Given the description of an element on the screen output the (x, y) to click on. 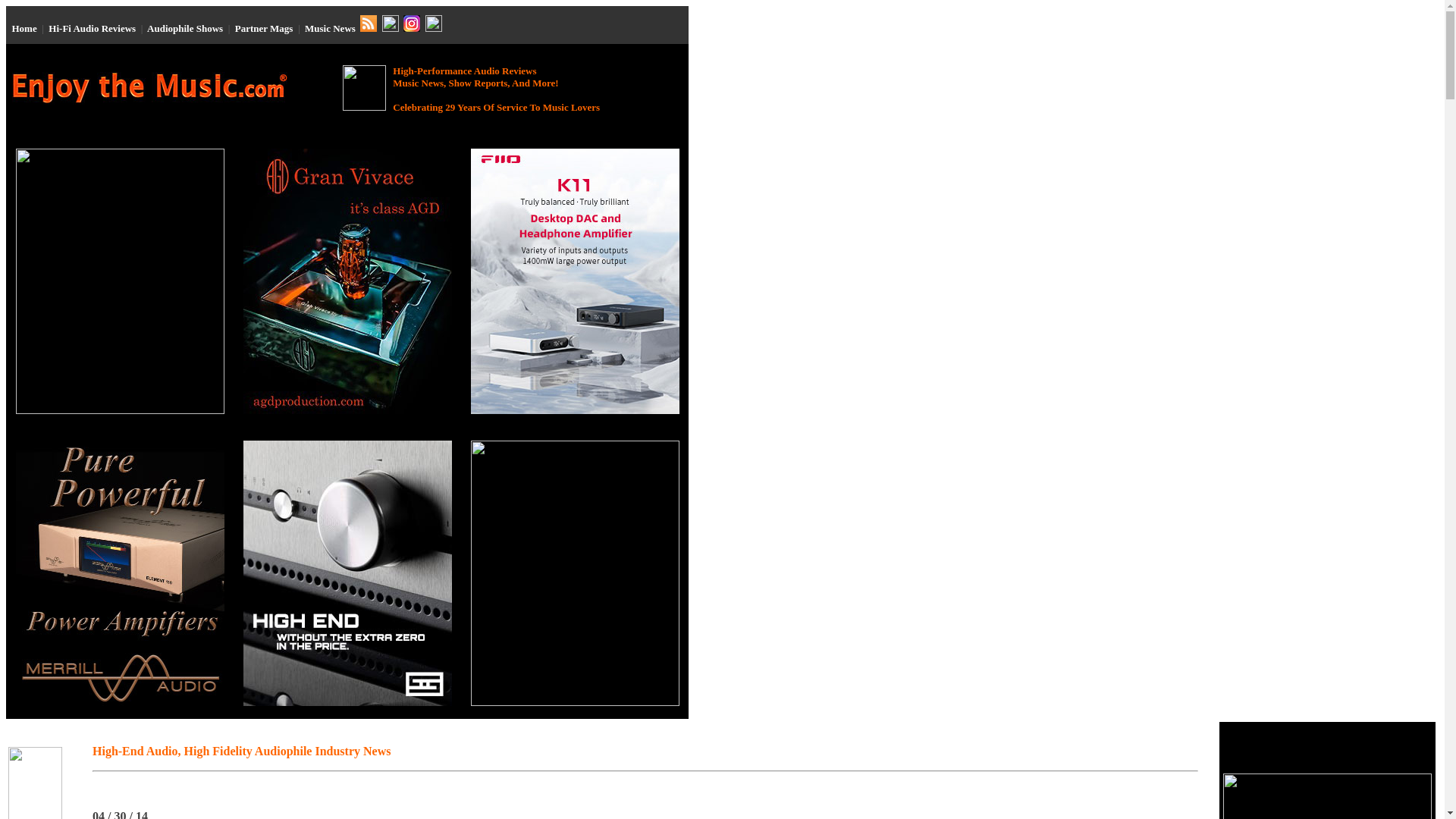
Hi-Fi Audio Reviews (91, 28)
Home (24, 28)
Partner Mags (264, 28)
Audiophile Shows (184, 28)
Music News (329, 28)
